Given the description of an element on the screen output the (x, y) to click on. 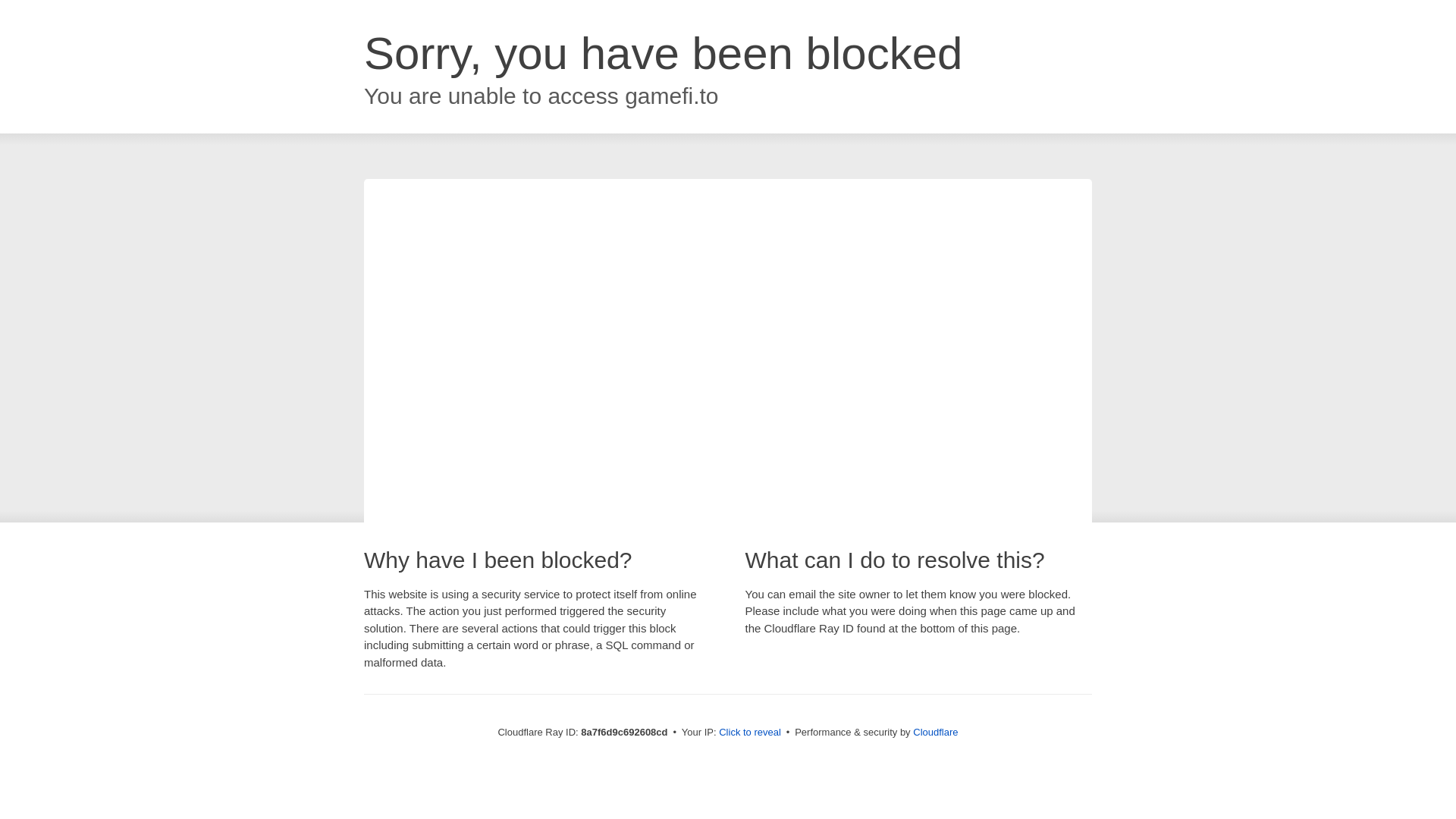
Cloudflare (935, 731)
Click to reveal (749, 732)
